Given the description of an element on the screen output the (x, y) to click on. 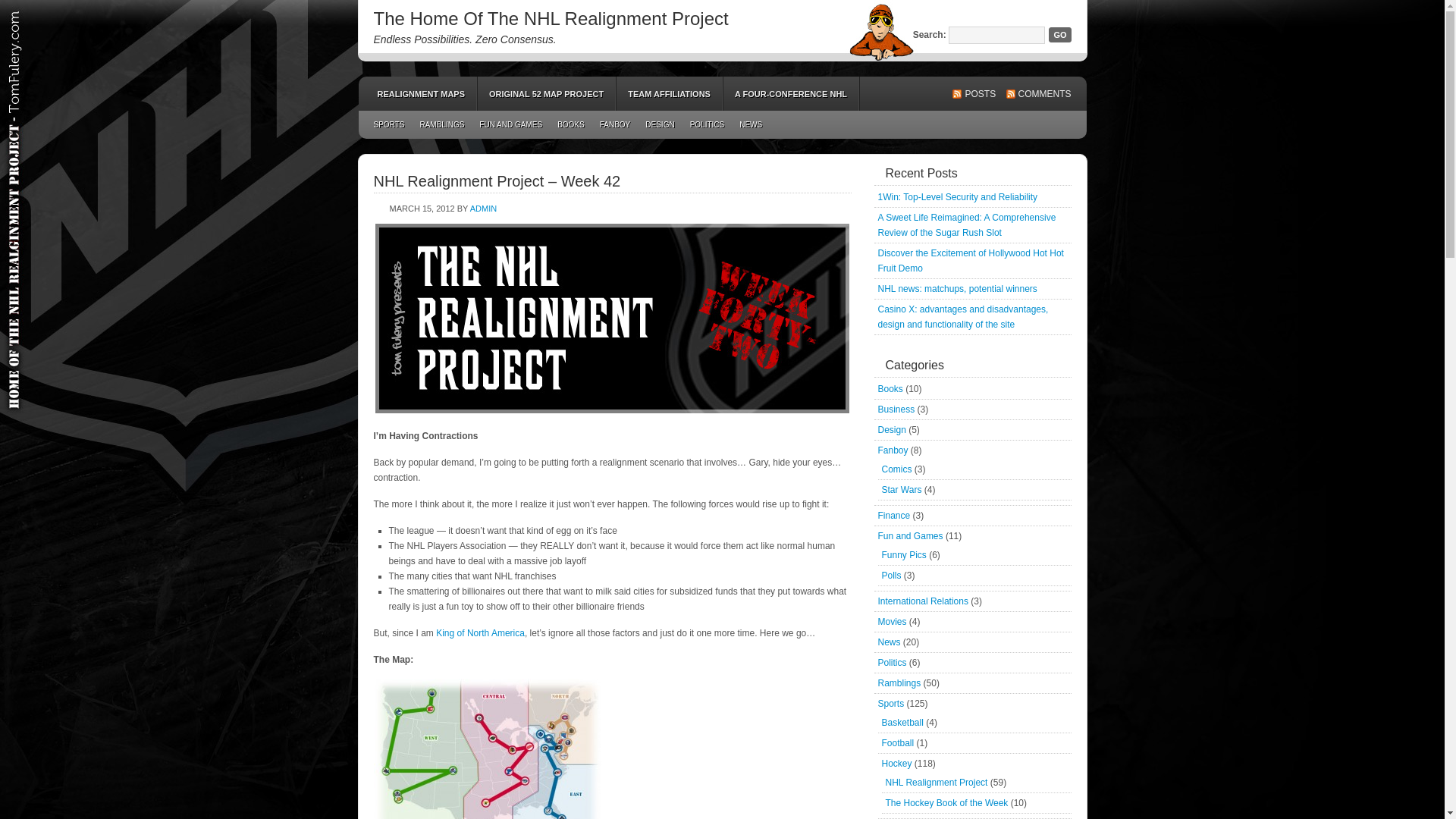
POSTS (973, 93)
1Win: Top-Level Security and Reliability (957, 196)
COMMENTS (1038, 93)
The Home Of The NHL Realignment Project (550, 18)
POLITICS (707, 124)
Go (1059, 34)
NHL-Realignment-Project-Wk42 (611, 318)
FANBOY (615, 124)
Comics (895, 469)
